Given the description of an element on the screen output the (x, y) to click on. 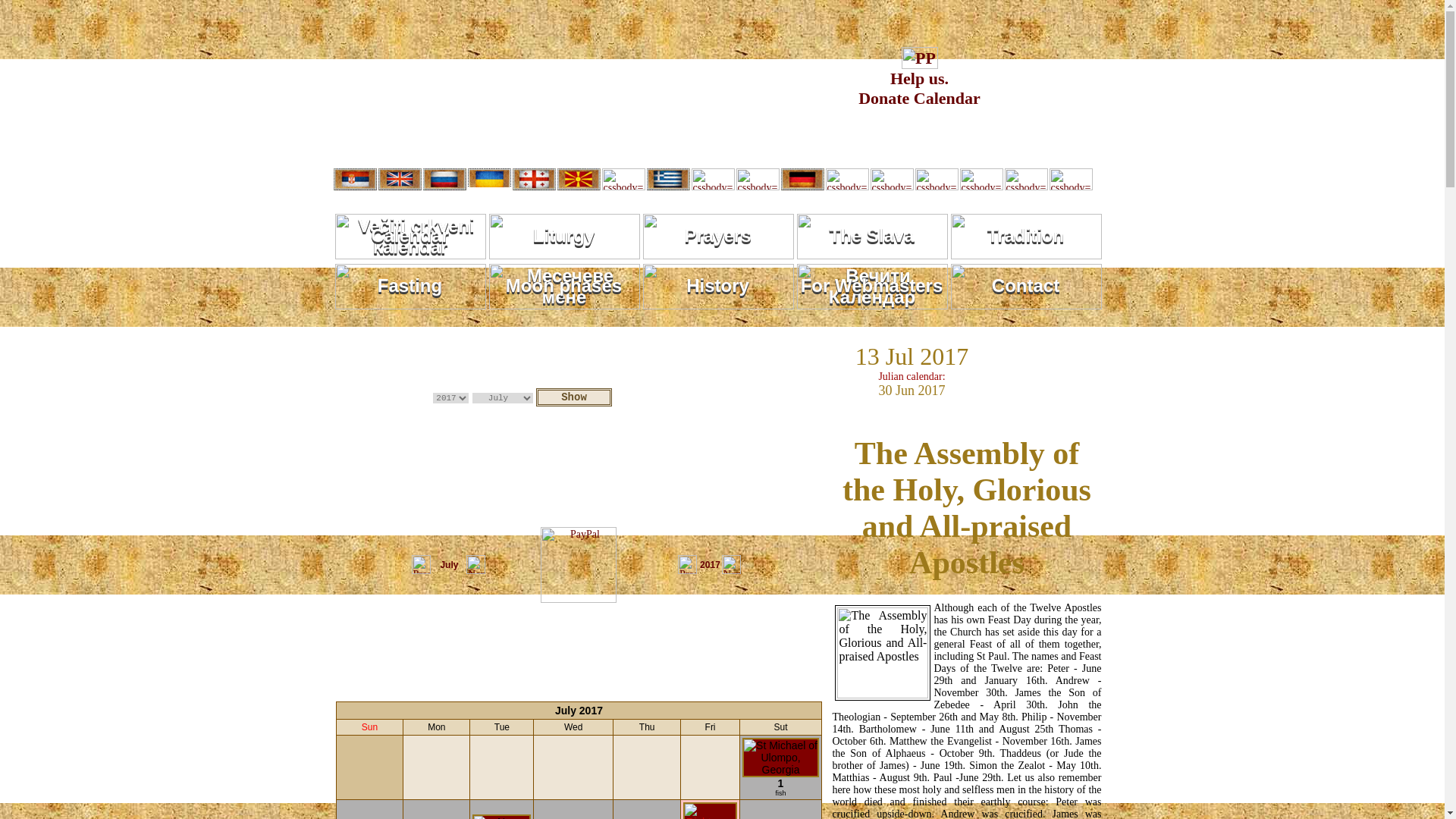
For Webmasters (871, 286)
Prayers (718, 236)
The Slava (871, 236)
Show (573, 397)
Tradition (1026, 236)
Show (573, 397)
Calendar (410, 236)
Moon phases (563, 286)
Liturgy (563, 236)
History (718, 286)
Fasting (919, 80)
Contact (410, 286)
Liturgy (1026, 286)
